Given the description of an element on the screen output the (x, y) to click on. 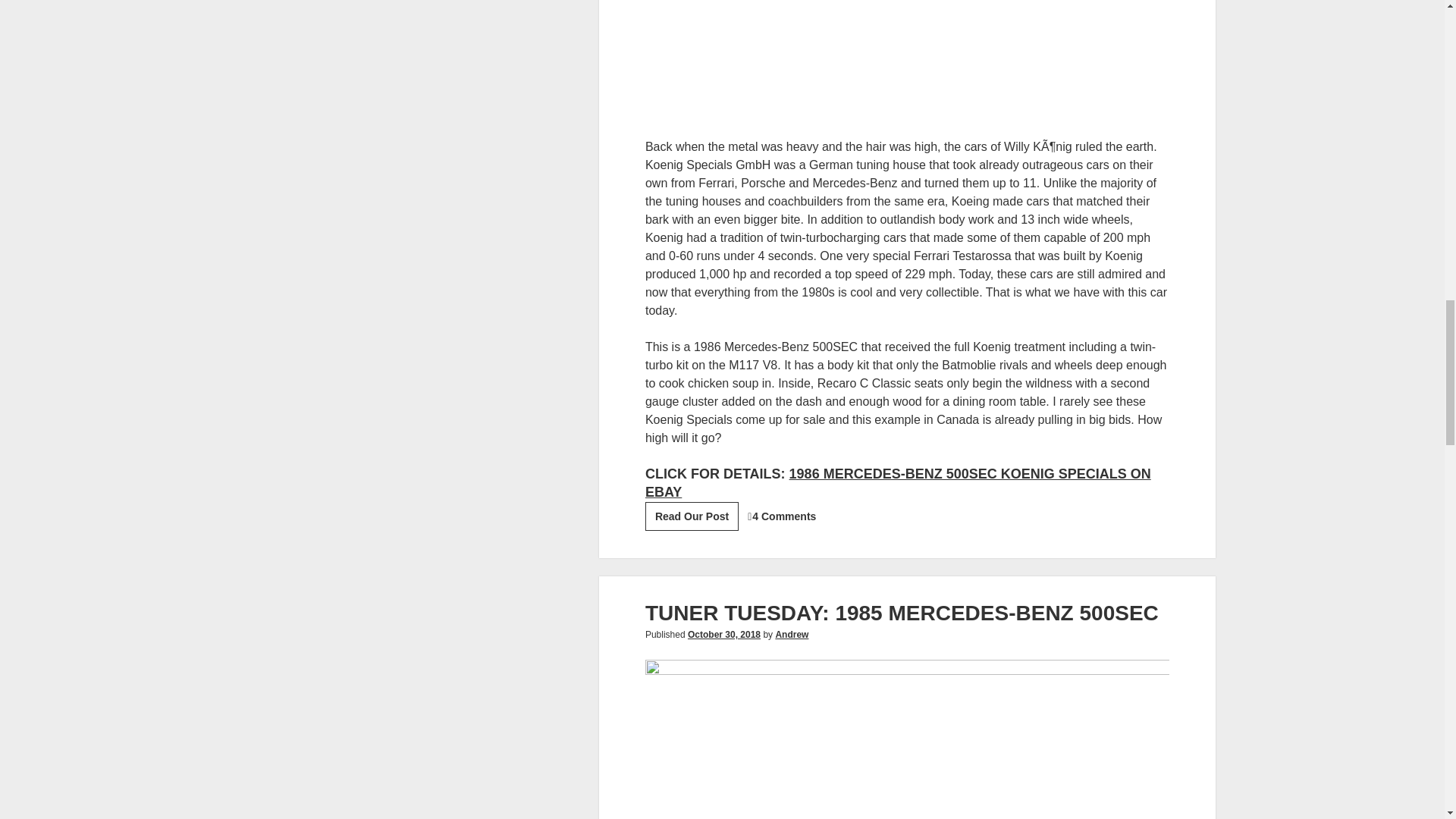
1986 MERCEDES-BENZ 500SEC KOENIG SPECIALS ON EBAY (898, 482)
TUNER TUESDAY: 1985 MERCEDES-BENZ 500SEC (901, 612)
Andrew (791, 634)
4 Comments (783, 516)
October 30, 2018 (723, 634)
